Given the description of an element on the screen output the (x, y) to click on. 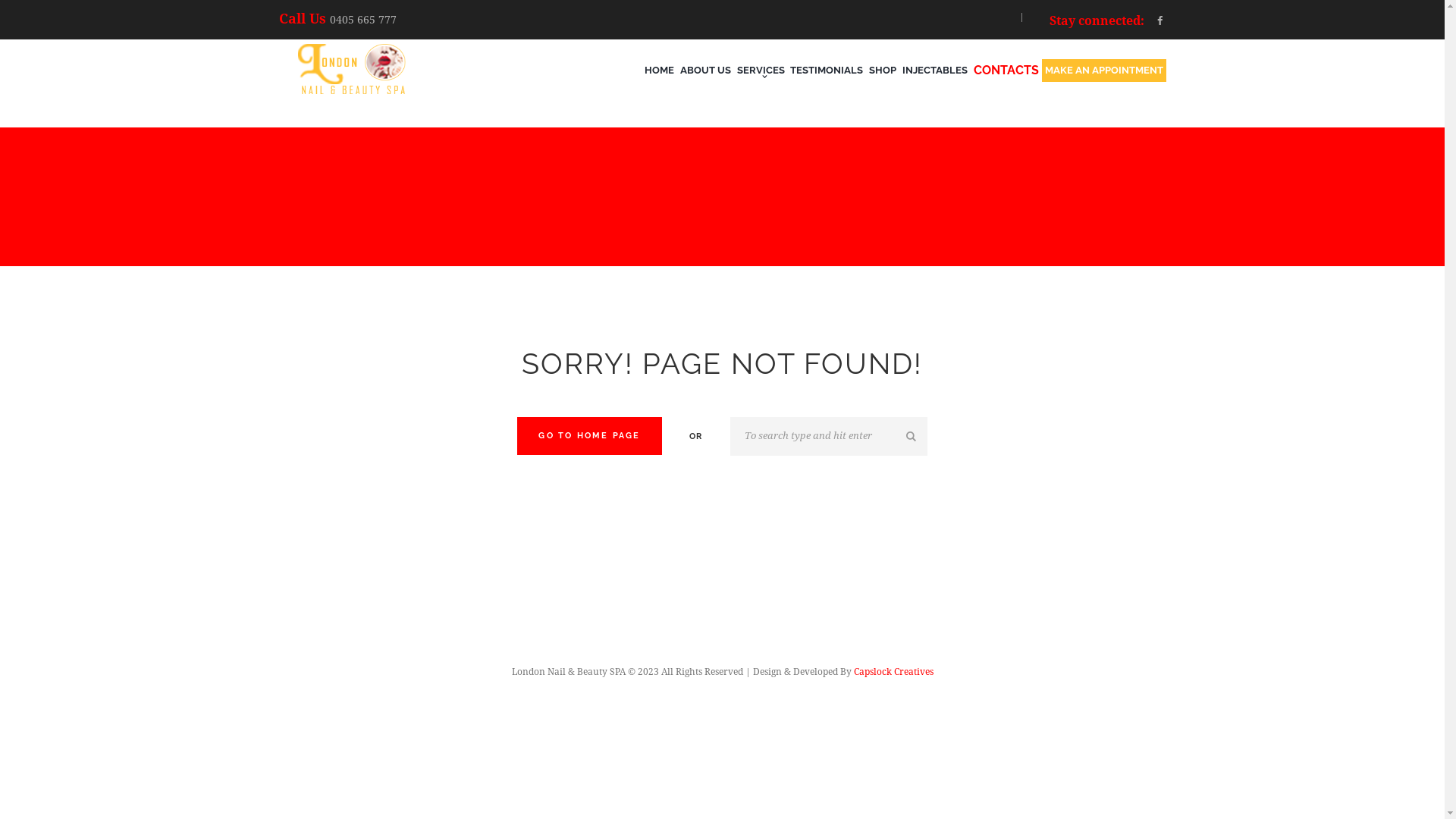
GO TO HOME PAGE Element type: text (589, 436)
Start search Element type: hover (912, 436)
SHOP Element type: text (882, 70)
INJECTABLES Element type: text (934, 70)
MAKE AN APPOINTMENT Element type: text (1103, 70)
TESTIMONIALS Element type: text (826, 70)
HOME Element type: text (659, 70)
CONTACTS Element type: text (1005, 70)
0405 665 777 Element type: text (362, 19)
Capslock Creatives Element type: text (893, 671)
SERVICES Element type: text (760, 70)
ABOUT US Element type: text (705, 70)
